Given the description of an element on the screen output the (x, y) to click on. 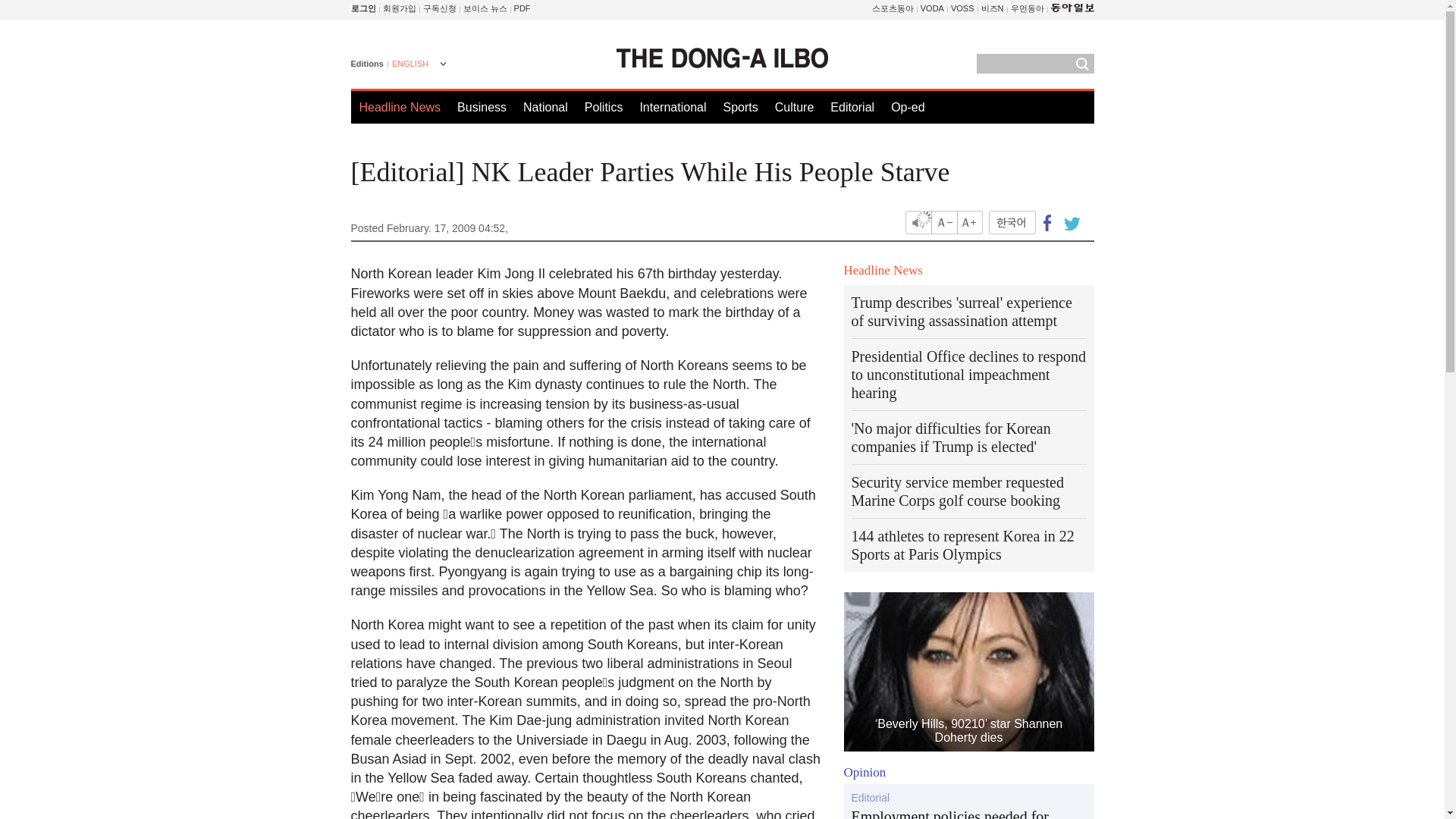
Business (481, 106)
PDF (522, 8)
WOMAN (1026, 8)
PDF (522, 8)
Culture (793, 106)
SPORTS (893, 8)
VOSS (962, 8)
Share this article on Facebook (1047, 222)
Font size down (944, 222)
Font size up (969, 222)
Sports (739, 106)
VOSS (962, 8)
VODA (931, 8)
READERS (440, 8)
Politics (604, 106)
